Given the description of an element on the screen output the (x, y) to click on. 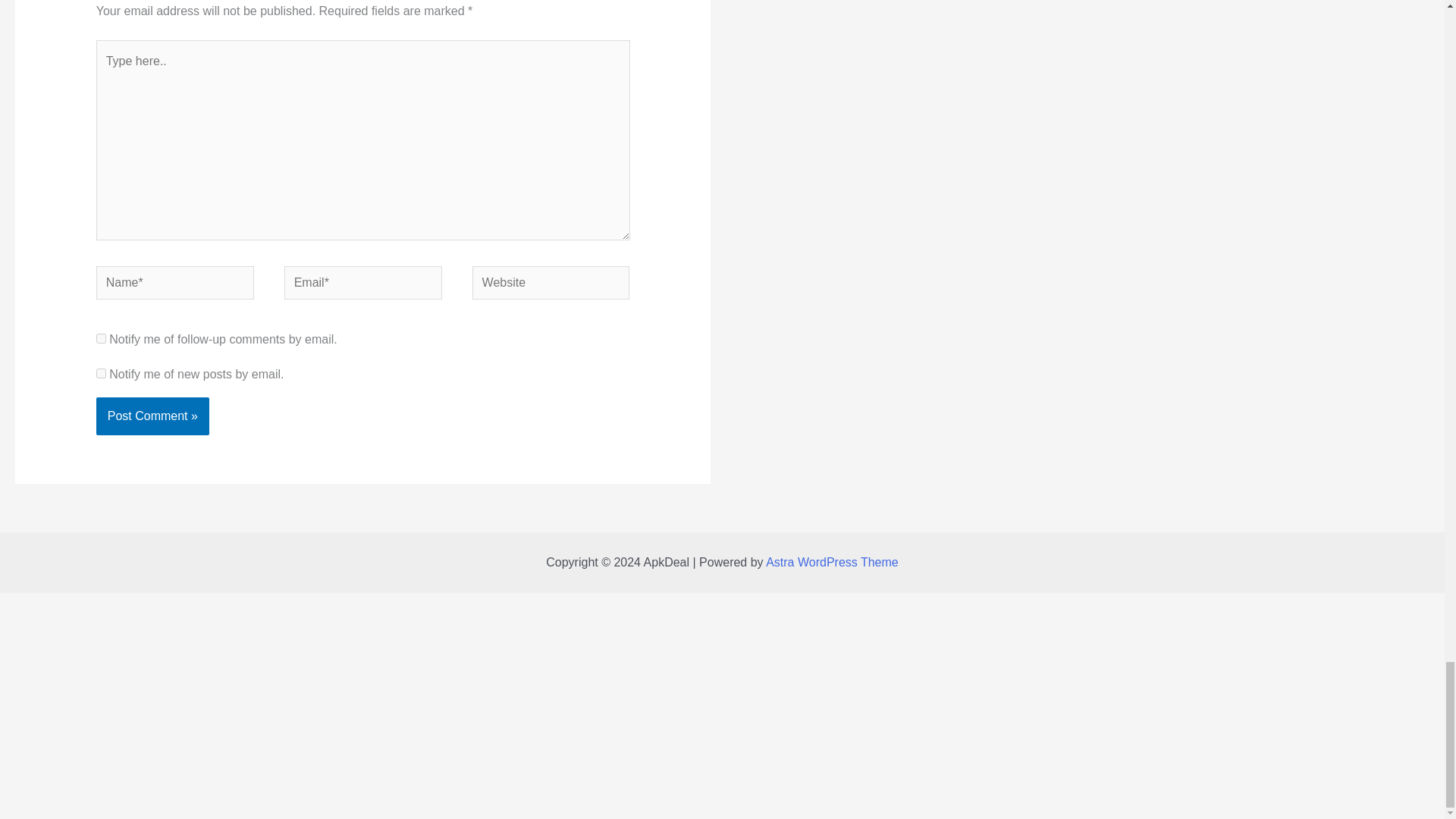
subscribe (101, 373)
subscribe (101, 338)
Astra WordPress Theme (831, 562)
